Given the description of an element on the screen output the (x, y) to click on. 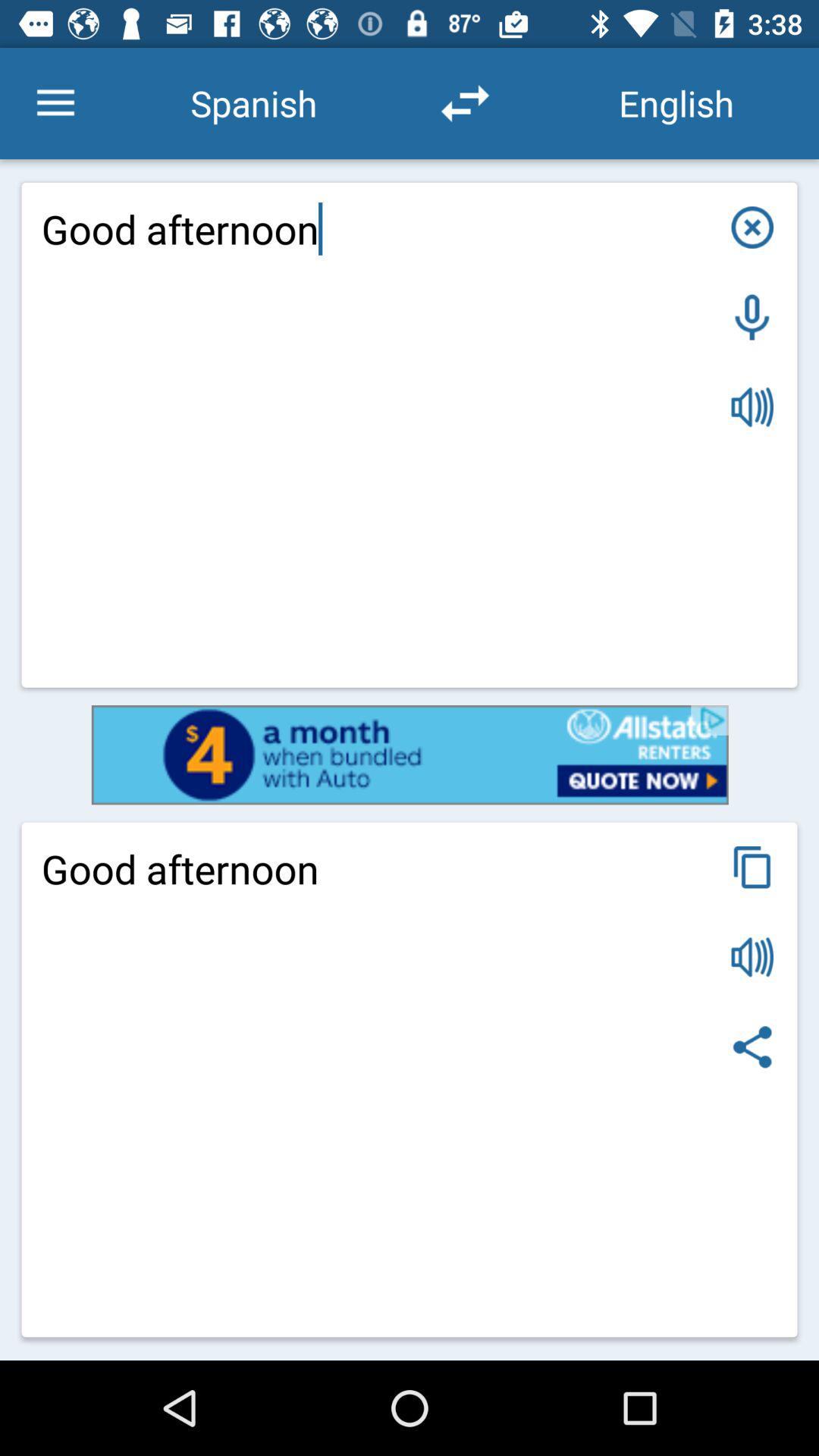
switch between english/spanish (465, 103)
